Given the description of an element on the screen output the (x, y) to click on. 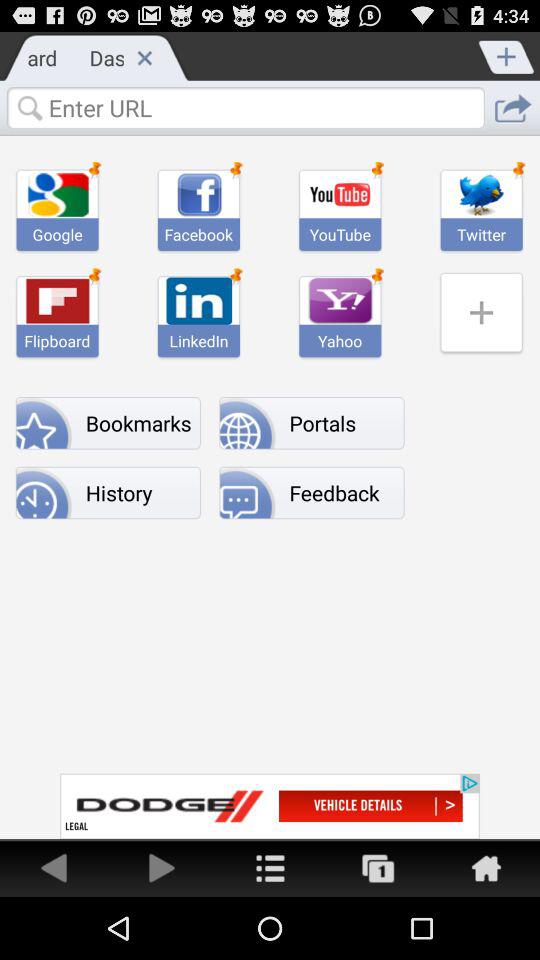
close browser window (144, 57)
